Given the description of an element on the screen output the (x, y) to click on. 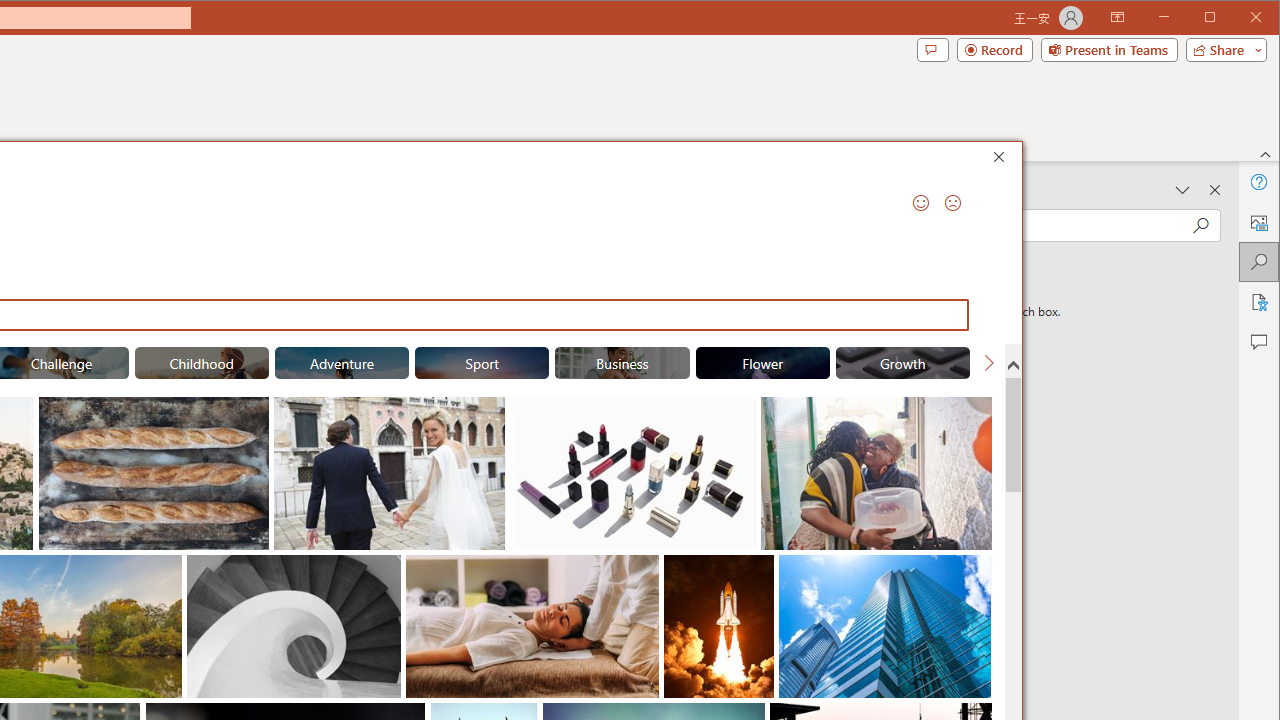
Maximize (1238, 18)
"Sport" Stock Images. (481, 362)
